Given the description of an element on the screen output the (x, y) to click on. 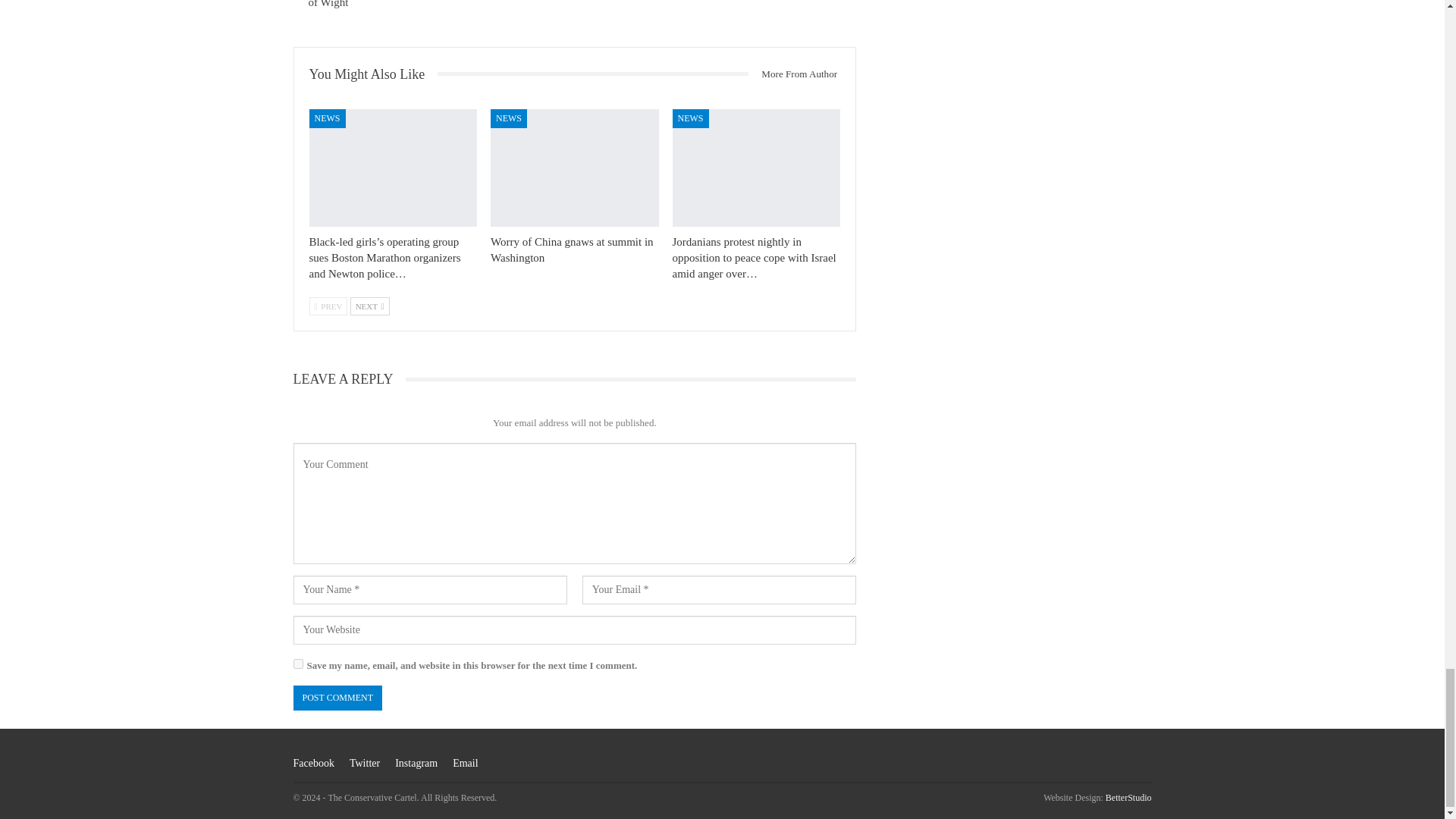
yes (297, 664)
Post Comment (336, 697)
Worry of China gnaws at summit in Washington (574, 167)
Worry of China gnaws at summit in Washington (571, 249)
